Given the description of an element on the screen output the (x, y) to click on. 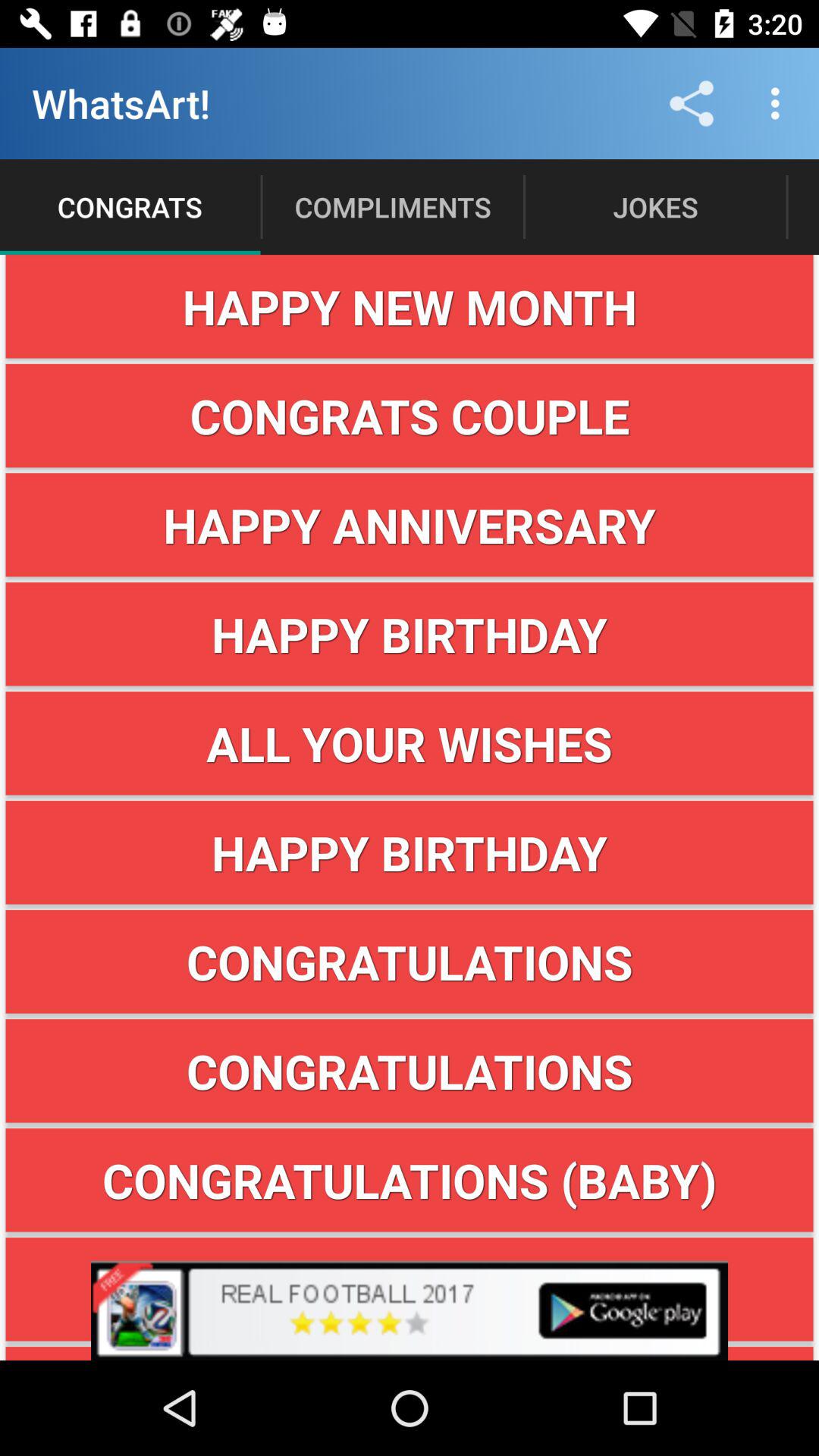
tap the button above the wow item (409, 1179)
